Given the description of an element on the screen output the (x, y) to click on. 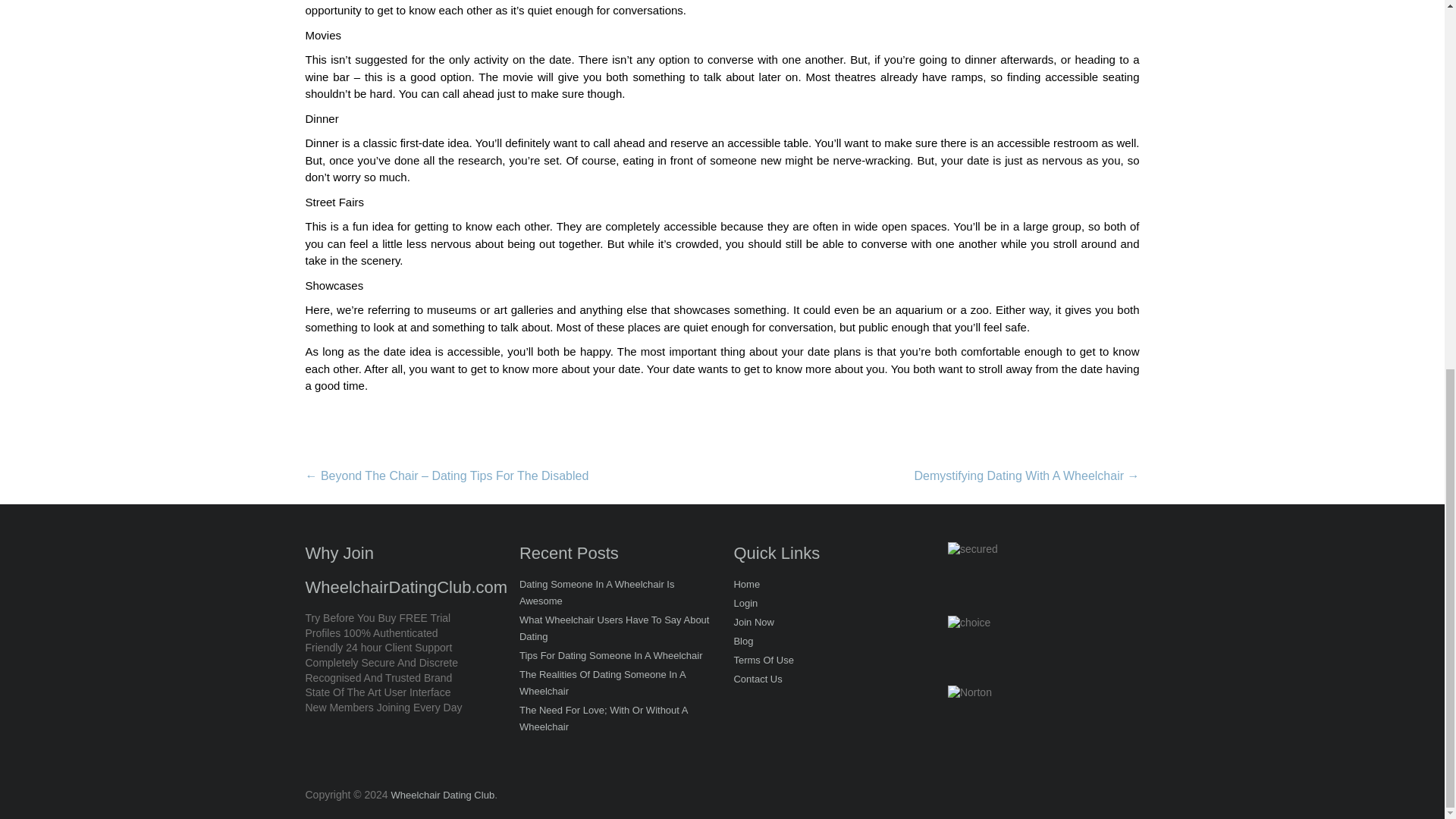
Home (746, 585)
Dating Someone In A Wheelchair Is Awesome (614, 593)
Contact Us (757, 680)
Wheelchair Dating Club (443, 794)
Terms Of Use (763, 660)
Tips For Dating Someone In A Wheelchair (611, 656)
Login (745, 604)
Blog (742, 642)
The Need For Love; With Or Without A Wheelchair (614, 719)
The Realities Of Dating Someone In A Wheelchair (614, 683)
Join Now (753, 623)
Wheelchair Dating Club (443, 794)
What Wheelchair Users Have To Say About Dating (614, 629)
